Given the description of an element on the screen output the (x, y) to click on. 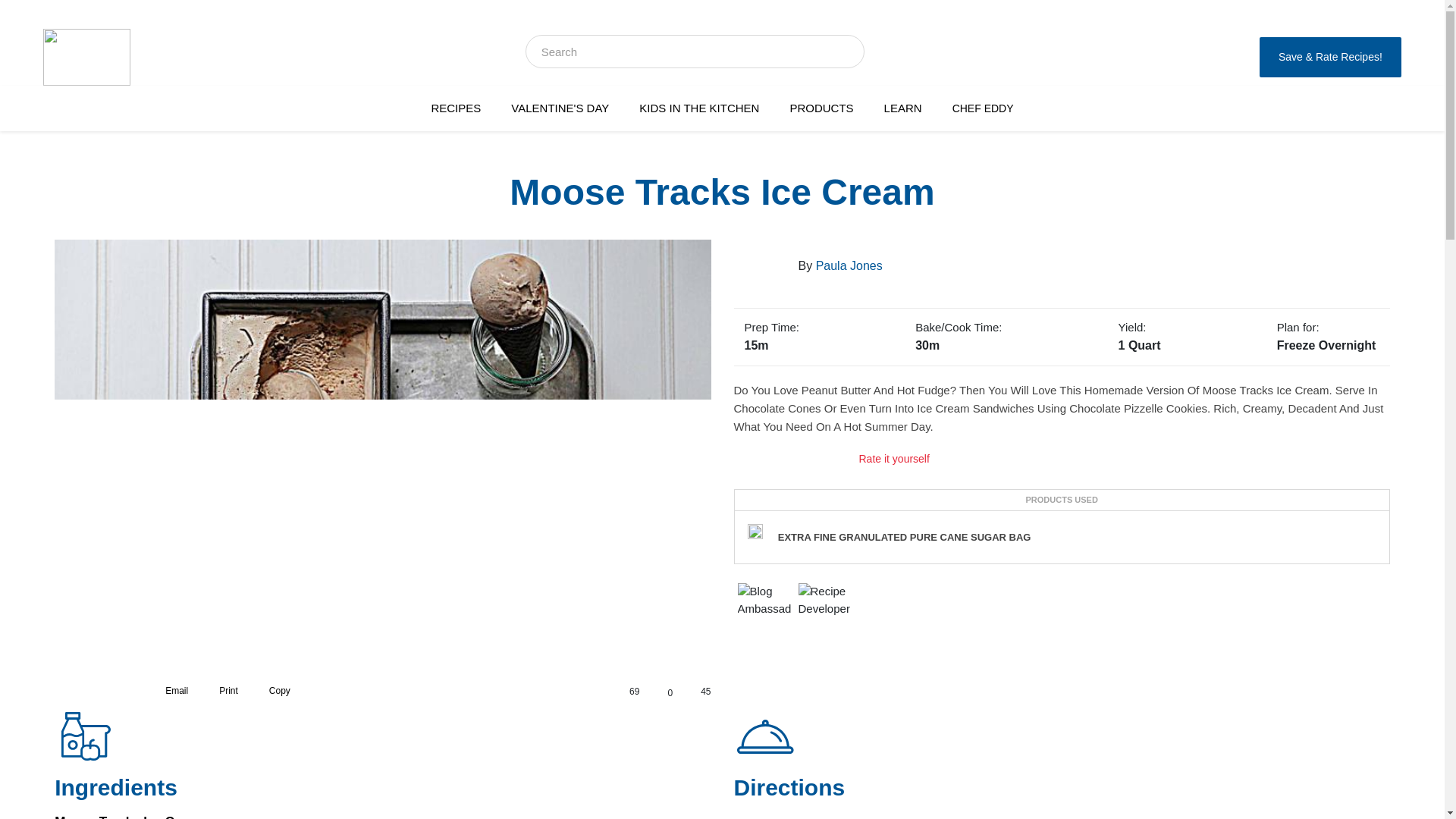
Submit (846, 51)
Pinterest (116, 691)
Facebook (64, 691)
Submit (846, 51)
Twitter (90, 691)
Comment (659, 687)
